Given the description of an element on the screen output the (x, y) to click on. 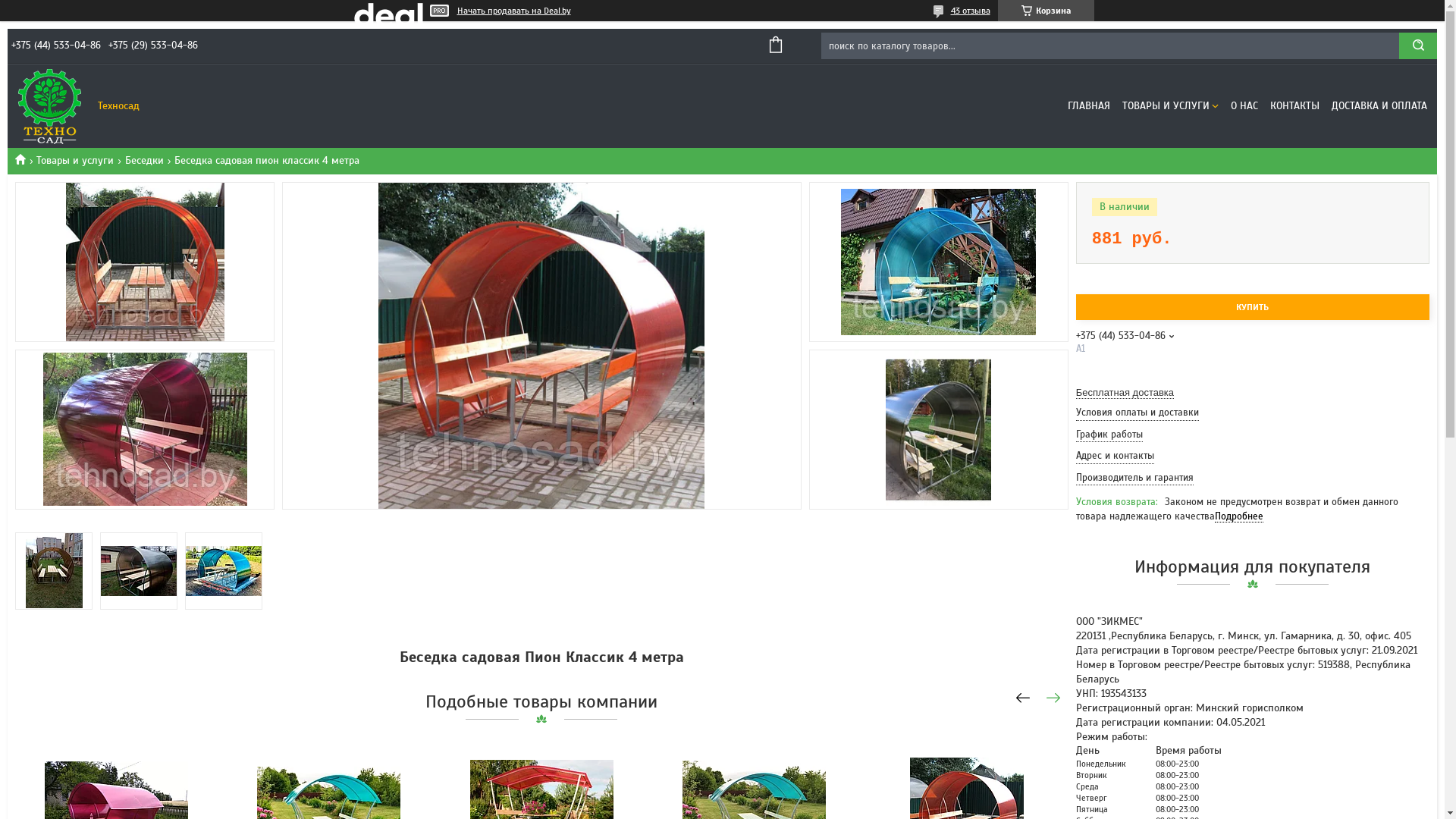
Tehnosad.by Element type: hover (25, 158)
Tehnosad.by Element type: hover (49, 106)
